Given the description of an element on the screen output the (x, y) to click on. 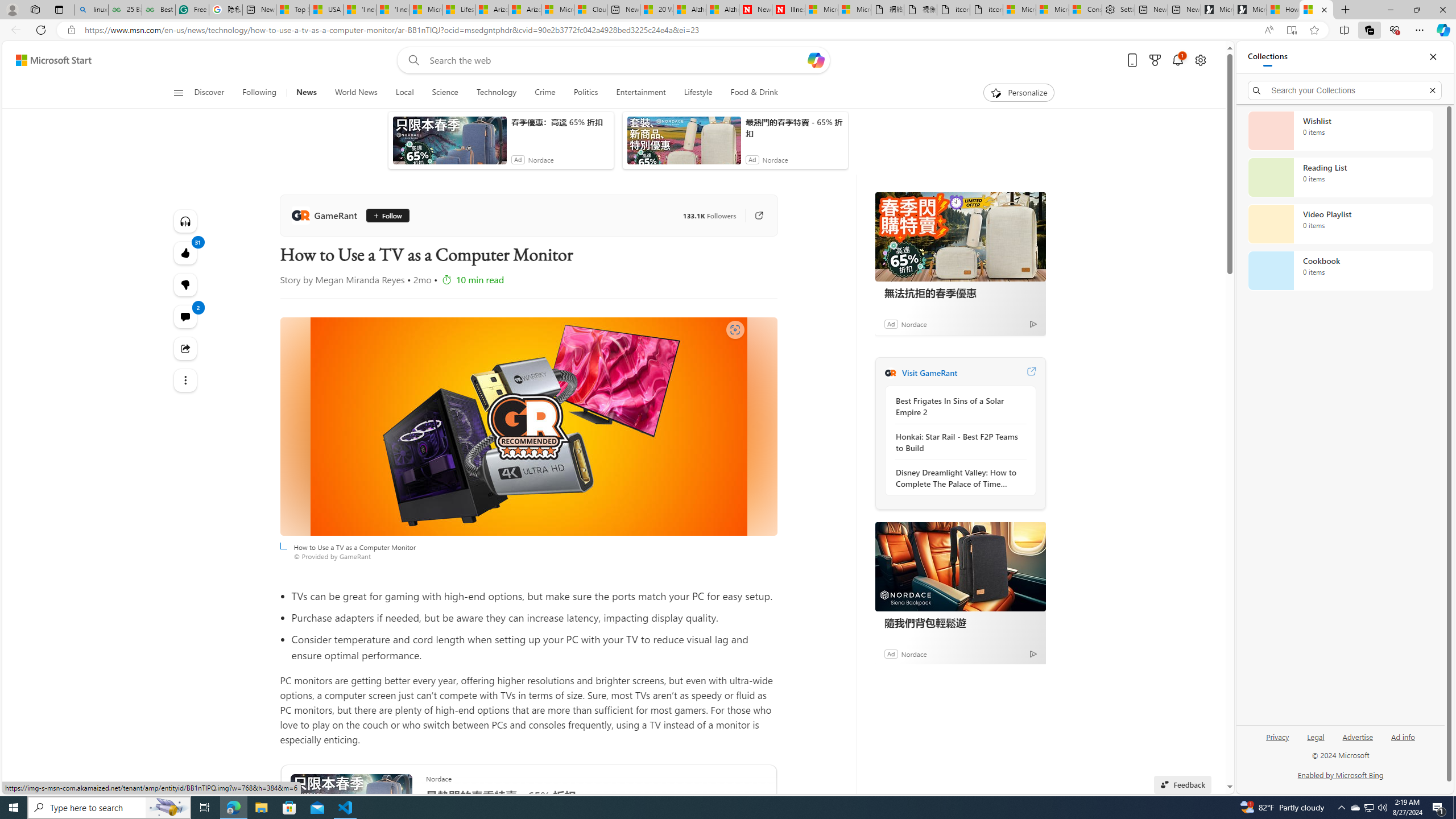
Microsoft Services Agreement (557, 9)
How to Use a TV as a Computer Monitor (528, 426)
Web search (411, 60)
Enter your search term (617, 59)
News (306, 92)
Science (444, 92)
31 (184, 284)
Illness news & latest pictures from Newsweek.com (788, 9)
How to Use a TV as a Computer Monitor (1316, 9)
Advertise (1358, 741)
